Given the description of an element on the screen output the (x, y) to click on. 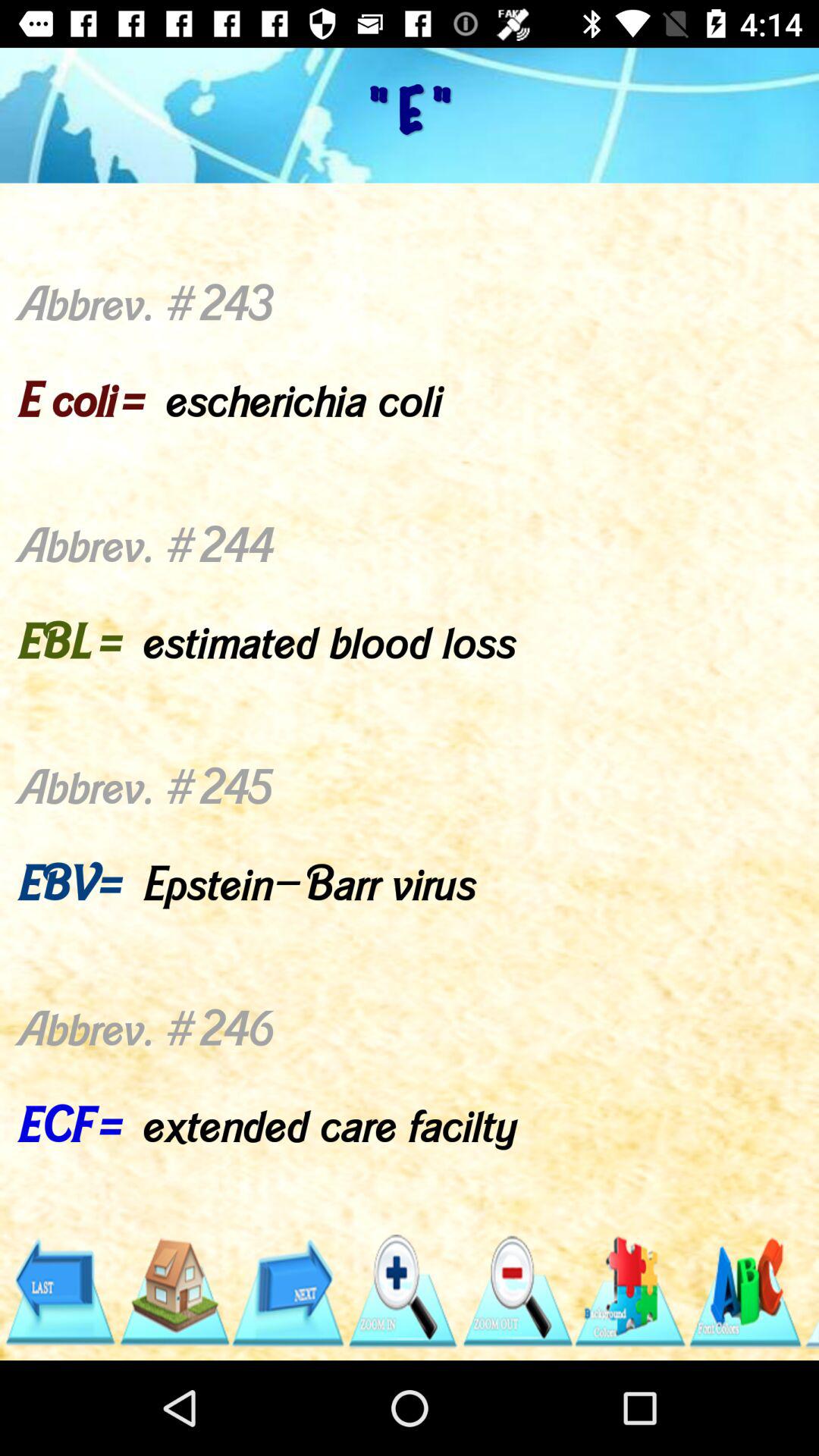
minimise (516, 1291)
